Given the description of an element on the screen output the (x, y) to click on. 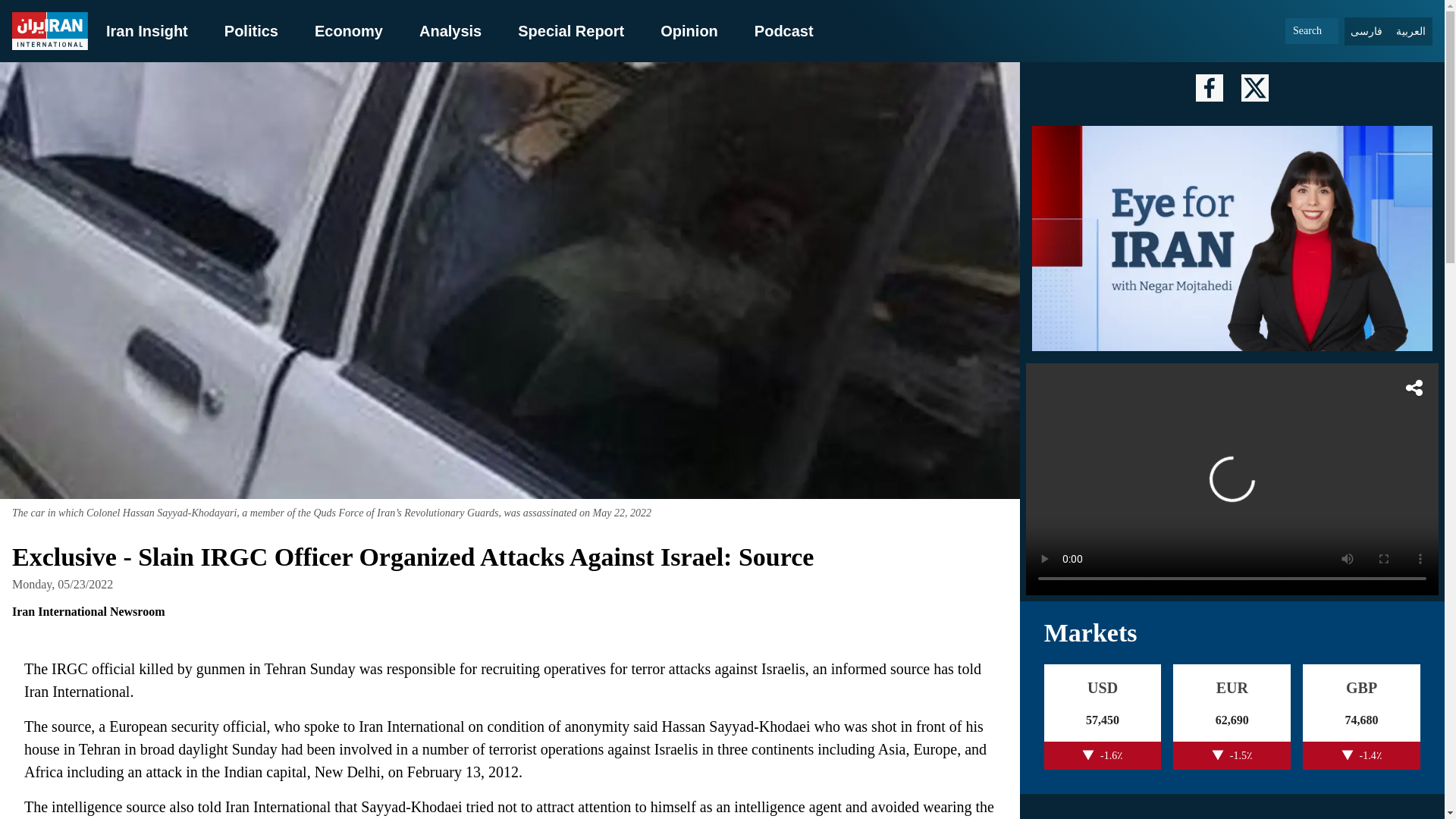
Iran International Newsroom (87, 612)
Opinion (689, 30)
Analysis (450, 30)
Special Report (571, 30)
Economy (348, 30)
Live TV (1232, 479)
Politics (251, 30)
Podcast (783, 30)
Iran Insight (146, 30)
